Given the description of an element on the screen output the (x, y) to click on. 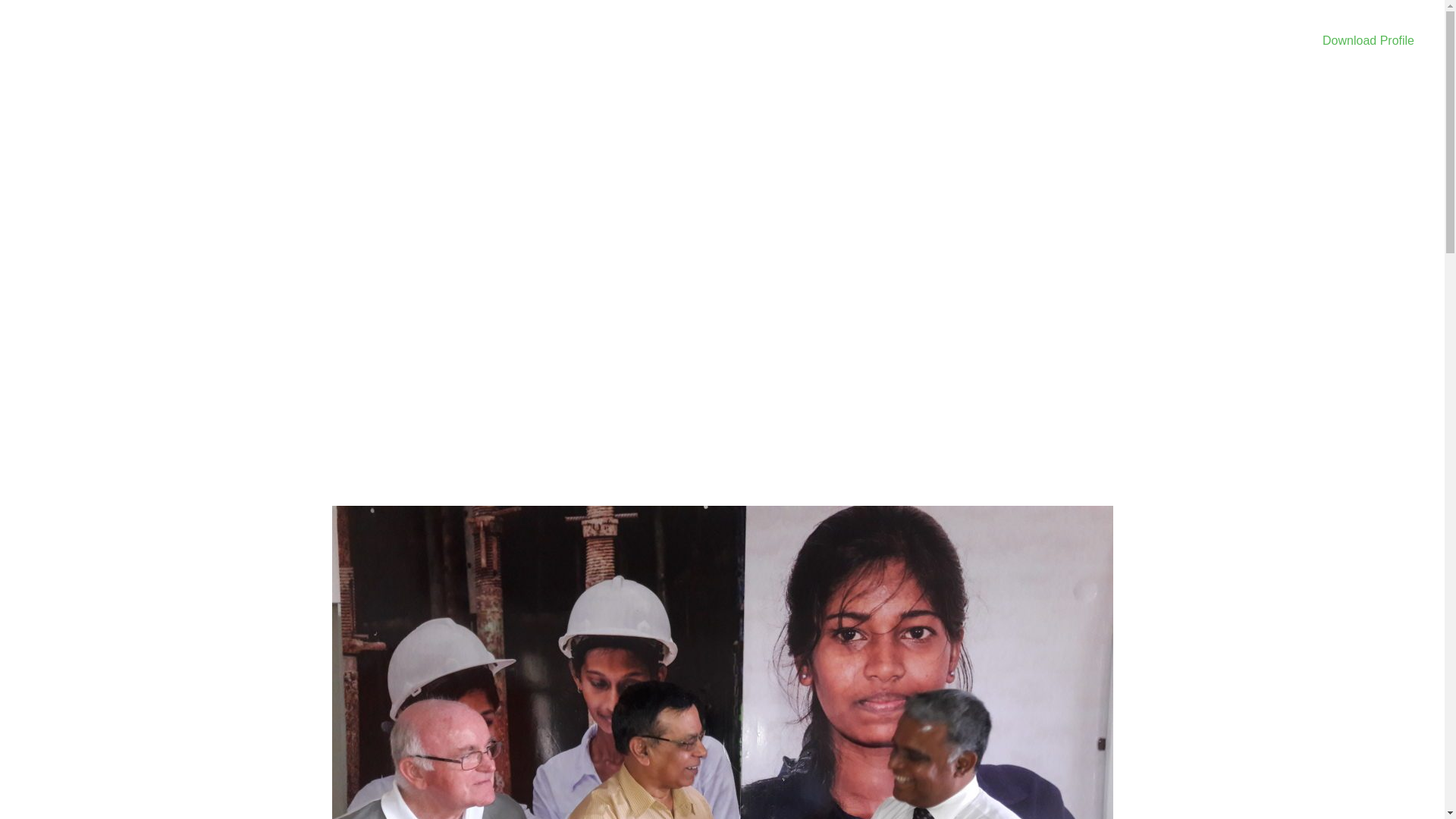
Home (538, 248)
All Posts (591, 248)
